Given the description of an element on the screen output the (x, y) to click on. 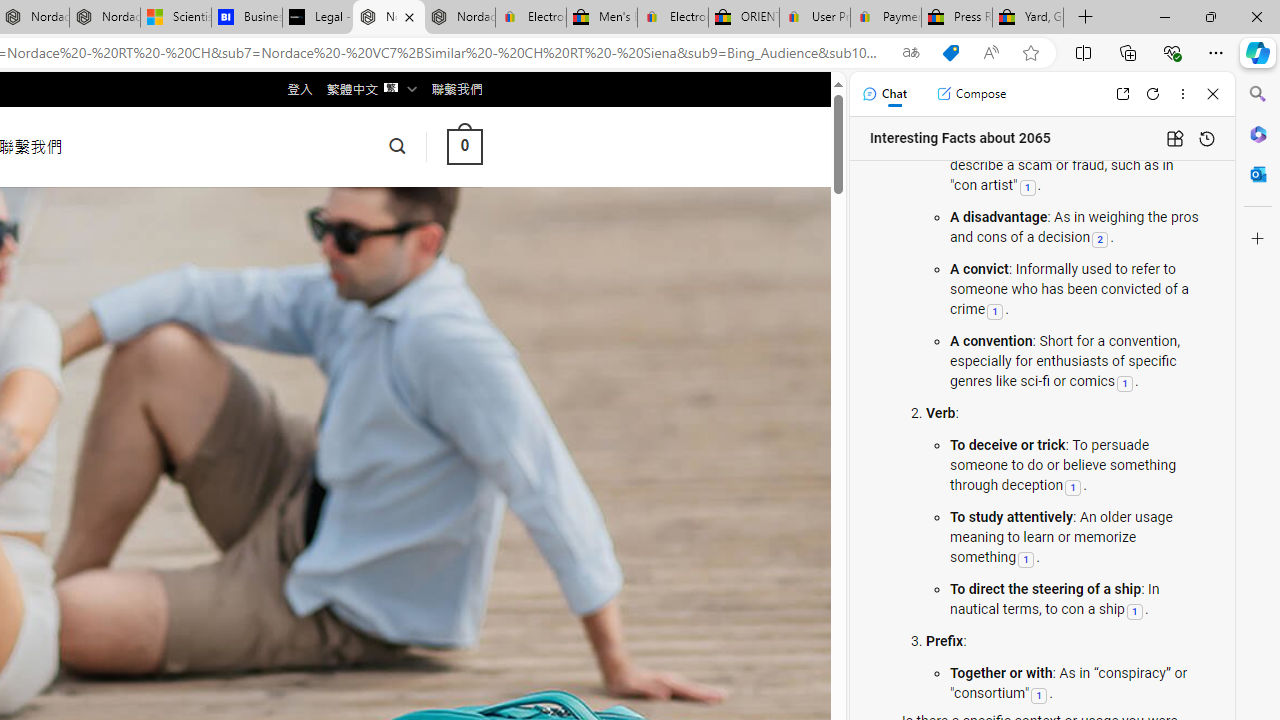
Press Room - eBay Inc. (956, 17)
Show translate options (910, 53)
Nordace - Summer Adventures 2024 (388, 17)
